Given the description of an element on the screen output the (x, y) to click on. 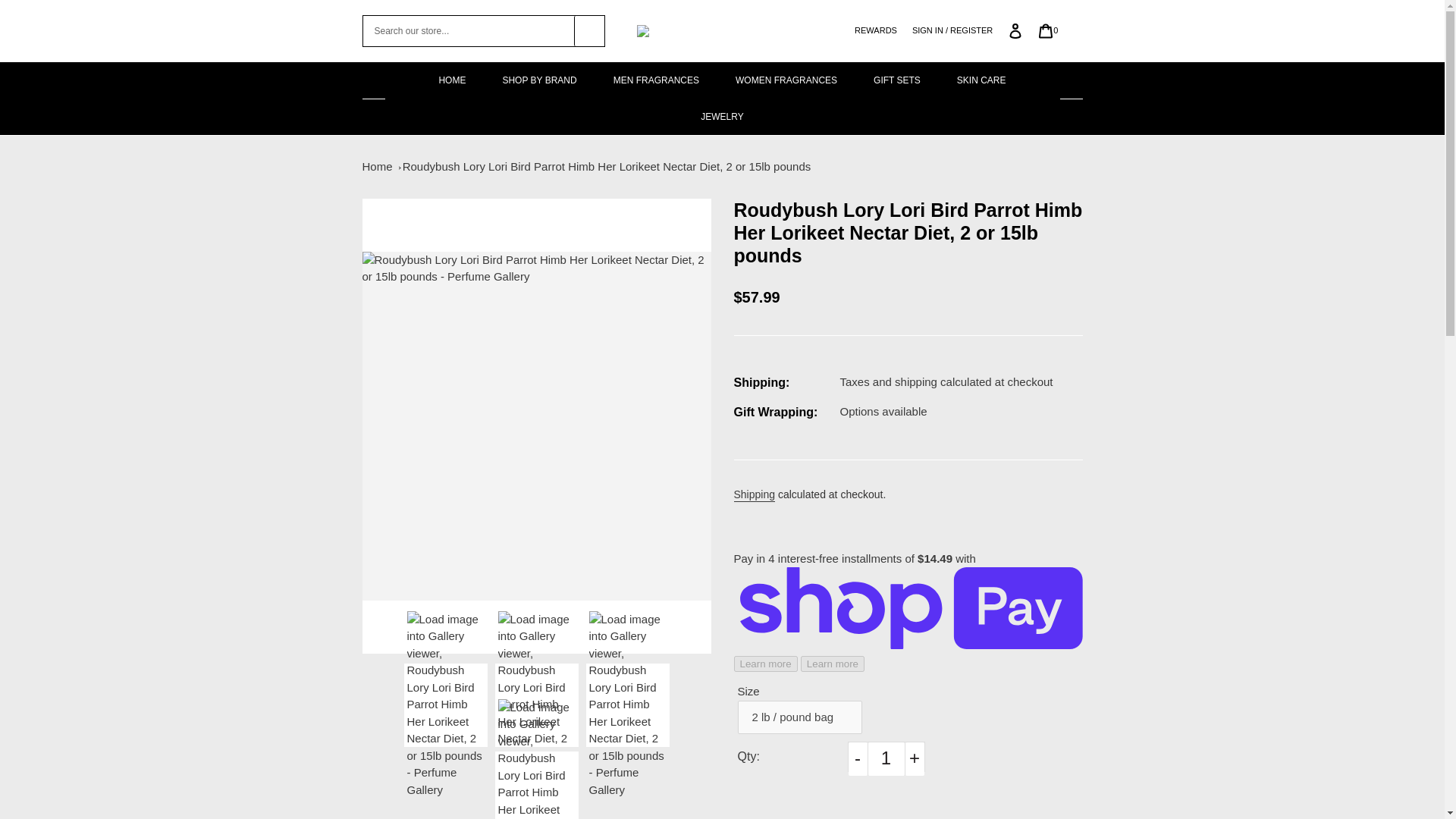
JEWELRY (721, 116)
0 (1048, 30)
1 (886, 758)
SKIN CARE (982, 80)
GIFT SETS (897, 80)
HOME (451, 80)
WOMEN FRAGRANCES (786, 80)
REWARDS (875, 30)
SHOP BY BRAND (538, 80)
MEN FRAGRANCES (656, 80)
